Given the description of an element on the screen output the (x, y) to click on. 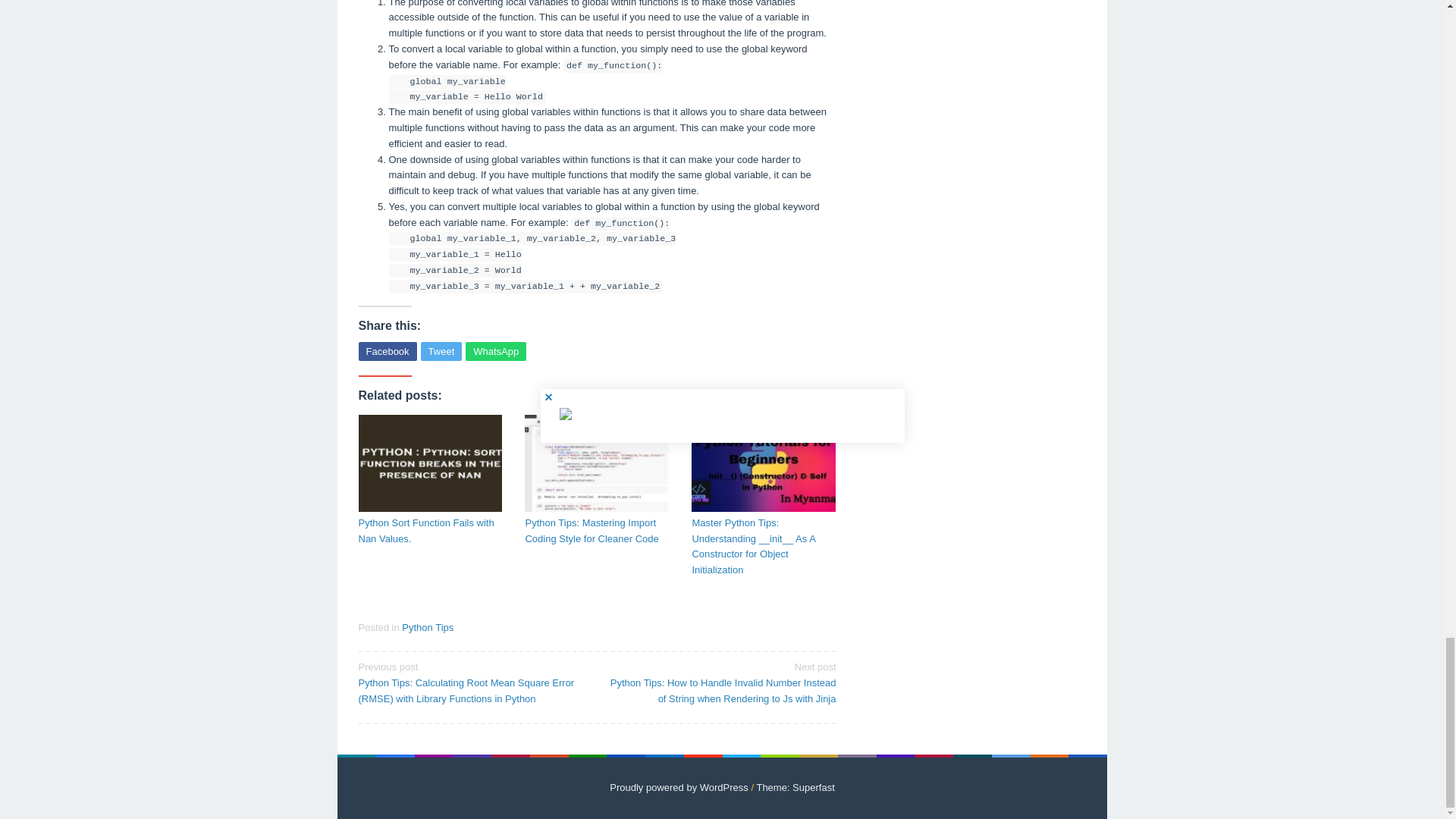
WhatsApp this (495, 351)
Permalink to: Python Sort Function Fails with Nan Values. (430, 462)
WhatsApp (495, 351)
Facebook (387, 351)
Python Sort Function Fails with Nan Values. (430, 531)
Tweet (441, 351)
Python Tips: Mastering Import Coding Style for Cleaner Code (596, 531)
Python Tips (426, 627)
Tweet this (441, 351)
